Given the description of an element on the screen output the (x, y) to click on. 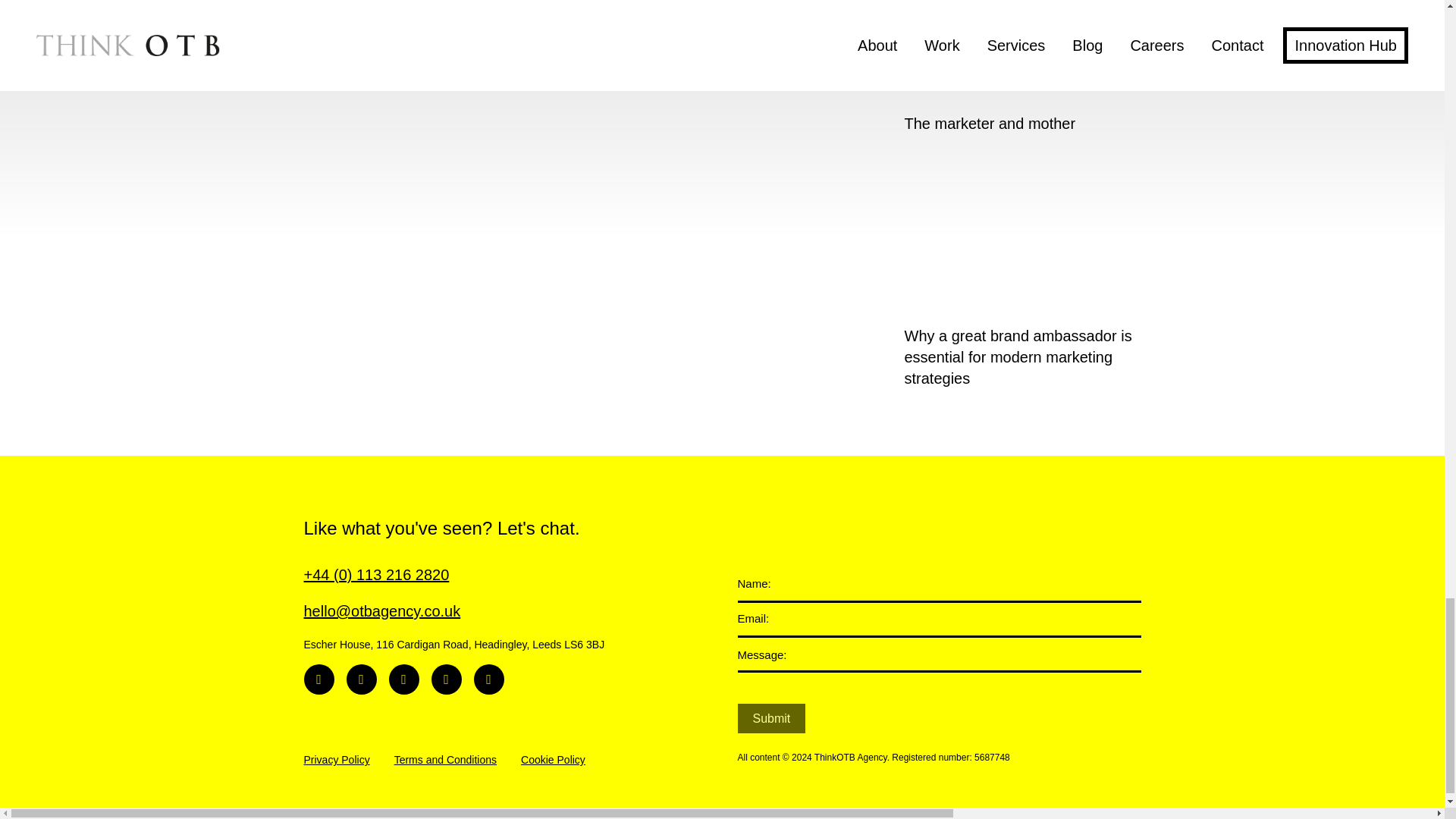
Blog (488, 679)
Twitter (403, 679)
Linked In (317, 679)
Instagram (360, 679)
Submit (770, 718)
Facebook (445, 679)
